Given the description of an element on the screen output the (x, y) to click on. 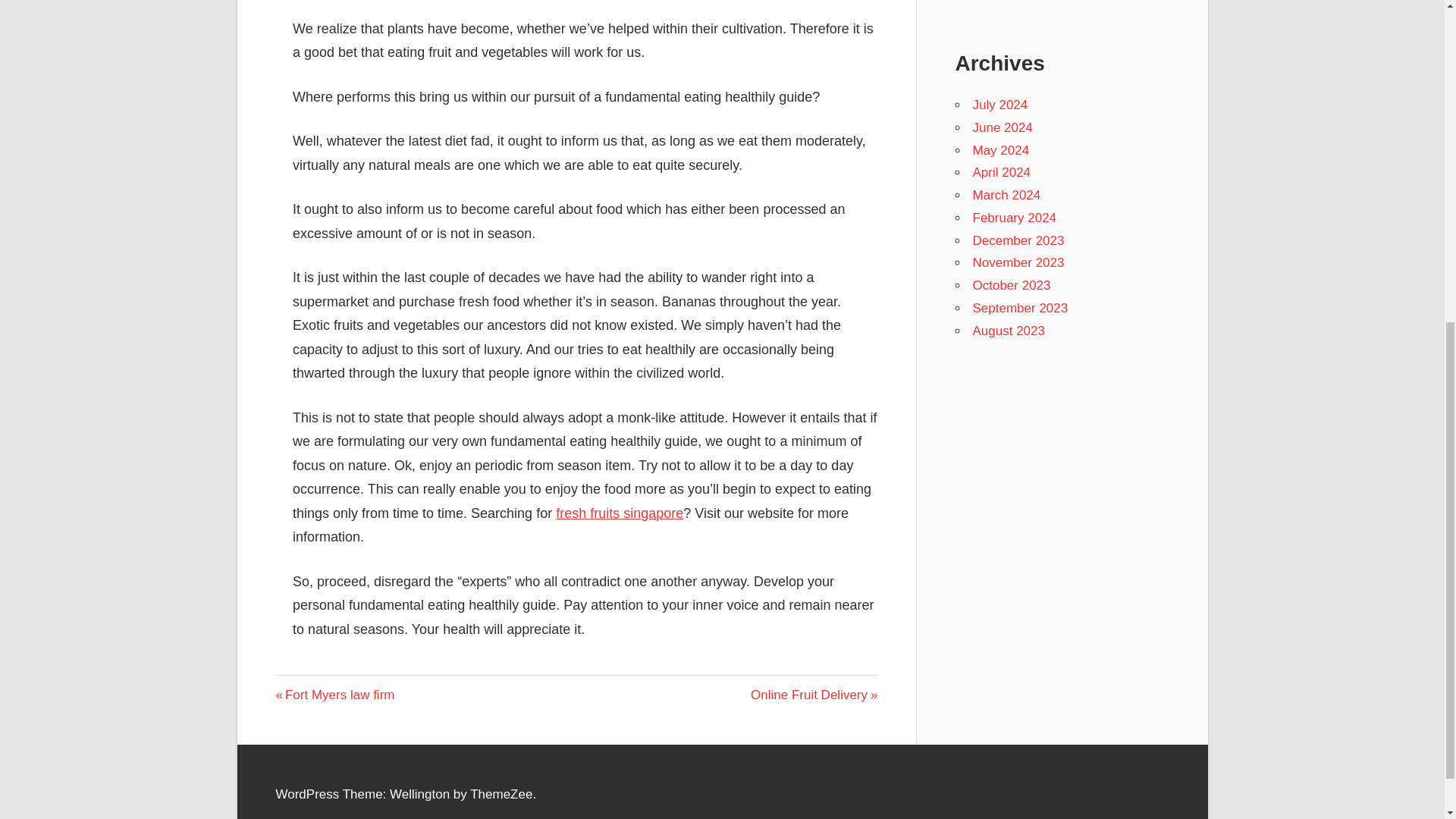
March 2024 (1006, 195)
February 2024 (1014, 217)
September 2023 (1019, 308)
UNCATEGORIZED (330, 687)
November 2023 (814, 694)
August 2023 (1018, 262)
fresh fruits singapore (1007, 330)
October 2023 (335, 694)
May 2024 (619, 513)
December 2023 (1010, 285)
April 2024 (1000, 150)
June 2024 (1018, 240)
July 2024 (1001, 172)
